Given the description of an element on the screen output the (x, y) to click on. 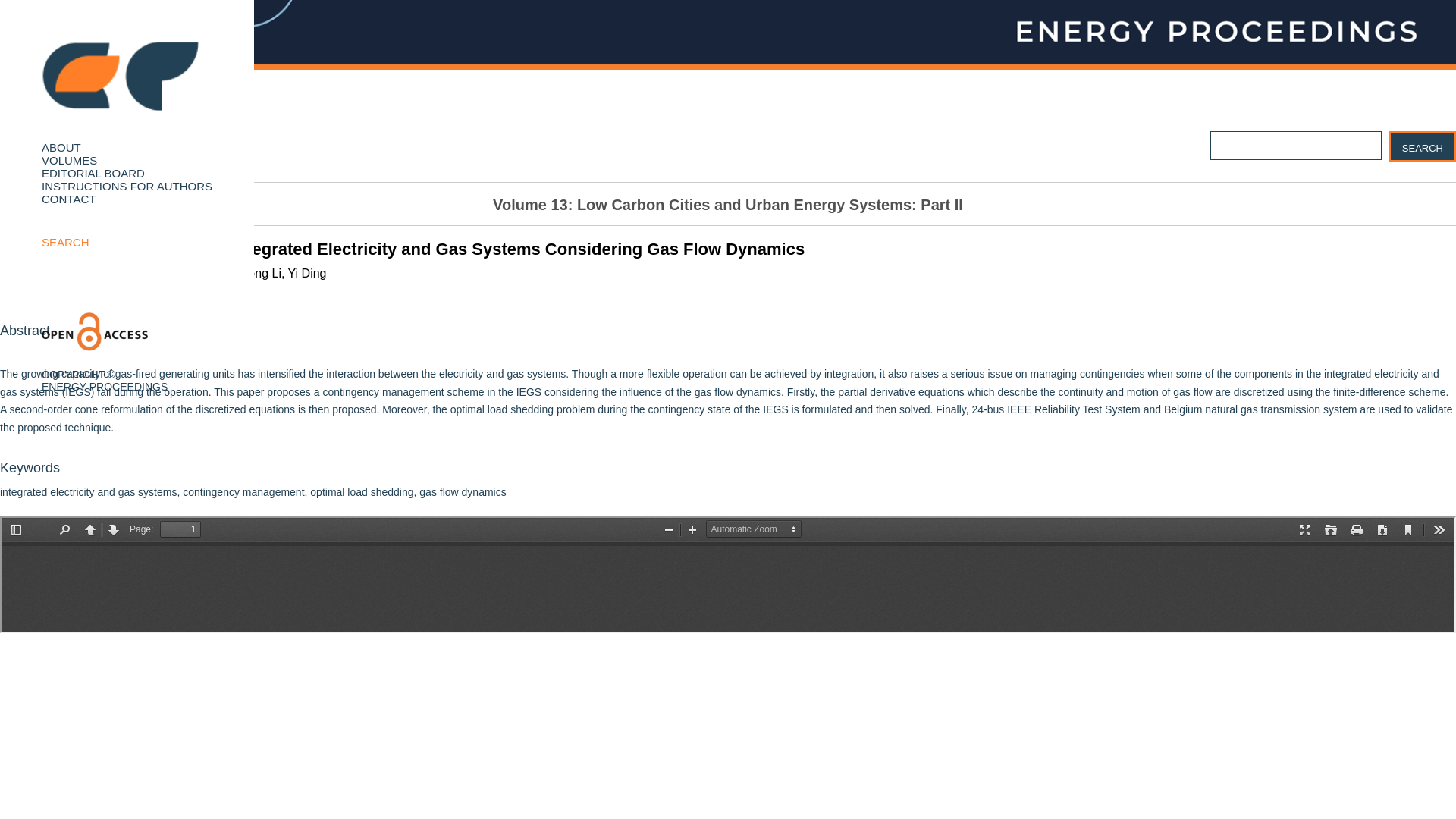
ABOUT (60, 147)
EDITORIAL BOARD (92, 172)
CONTACT (68, 198)
VOLUMES (68, 160)
INSTRUCTIONS FOR AUTHORS (126, 185)
Instructions for Authors (126, 185)
Contact (68, 198)
Volumes (68, 160)
About (60, 147)
